Given the description of an element on the screen output the (x, y) to click on. 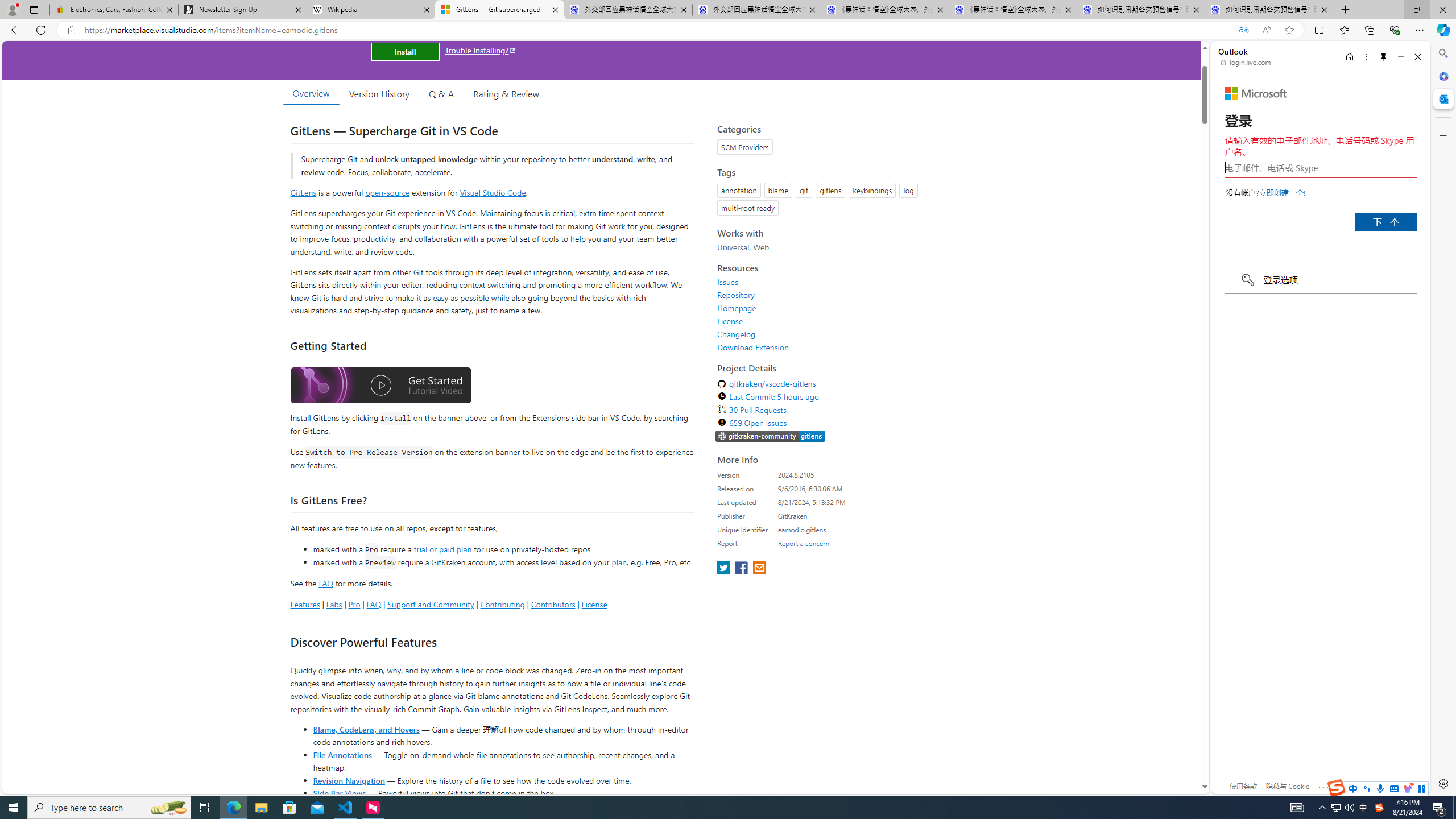
https://slack.gitkraken.com// (769, 436)
Issues (820, 281)
Side Bar Views (339, 792)
